Given the description of an element on the screen output the (x, y) to click on. 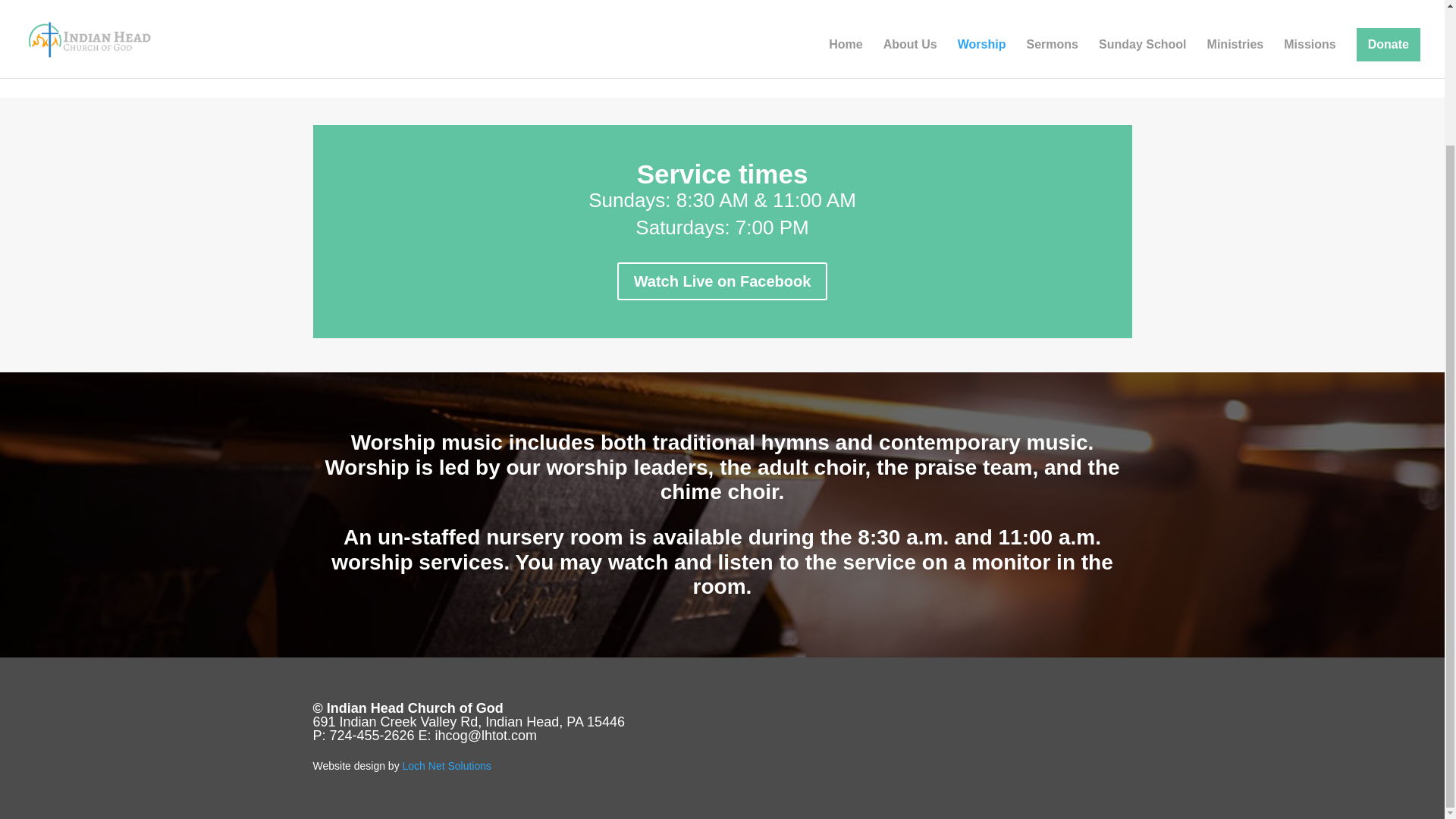
Watch Live on Facebook (722, 281)
Loch Net Solutions (447, 766)
